Given the description of an element on the screen output the (x, y) to click on. 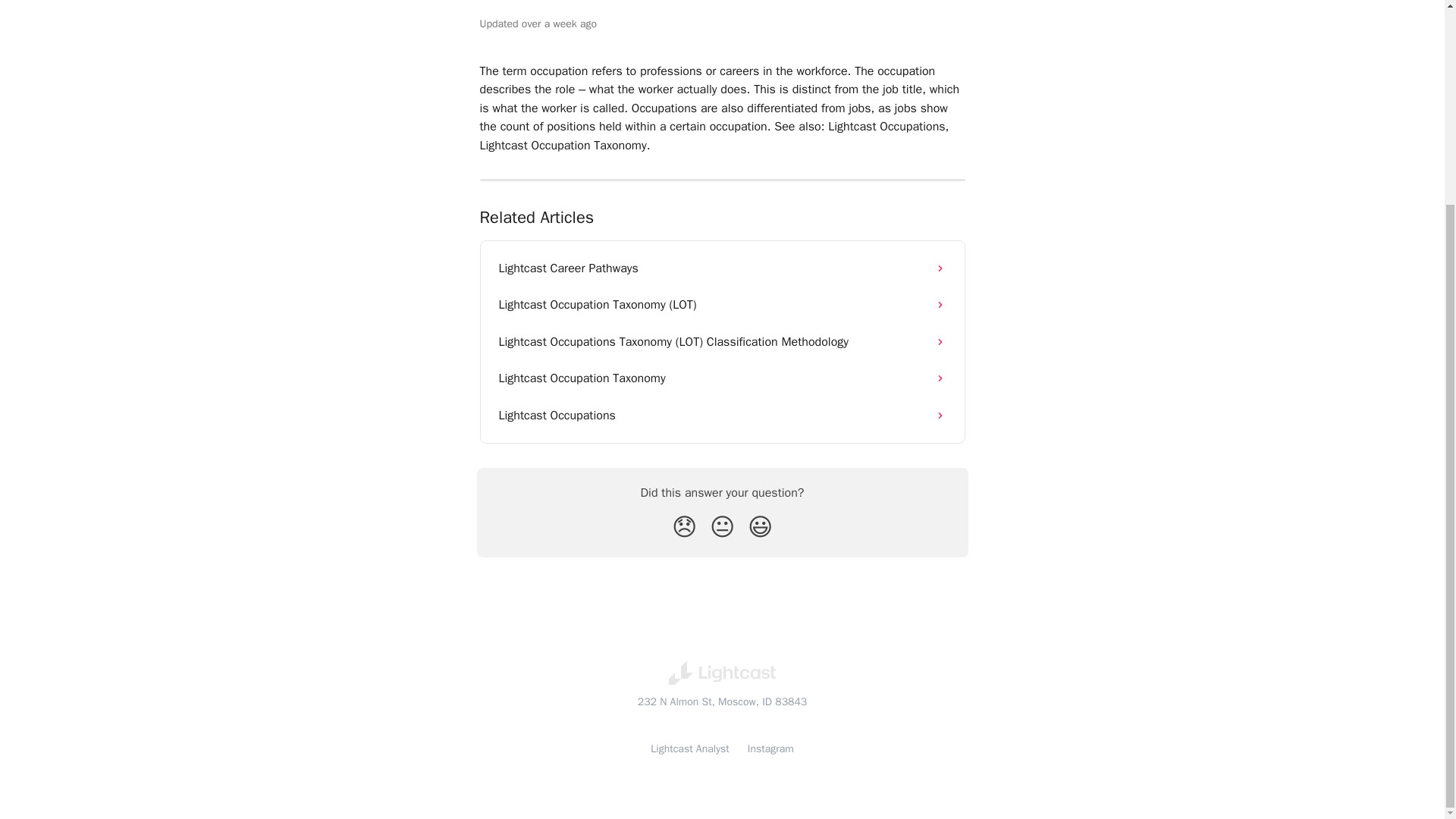
Lightcast Career Pathways (722, 268)
Instagram (770, 748)
Lightcast Occupations (722, 415)
Lightcast Occupation Taxonomy (722, 378)
Lightcast Analyst (689, 748)
